Given the description of an element on the screen output the (x, y) to click on. 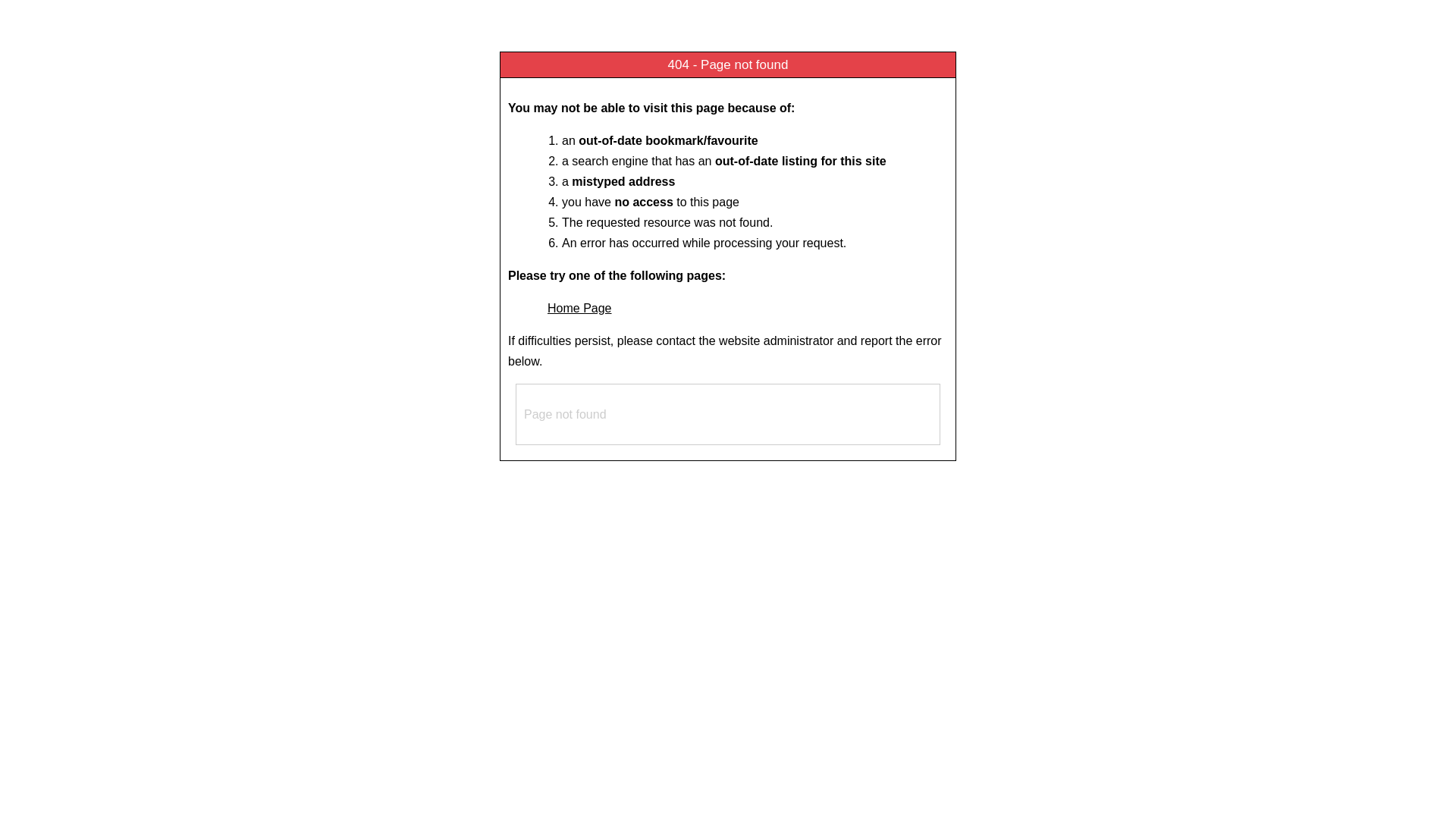
Home Page Element type: text (579, 307)
